Given the description of an element on the screen output the (x, y) to click on. 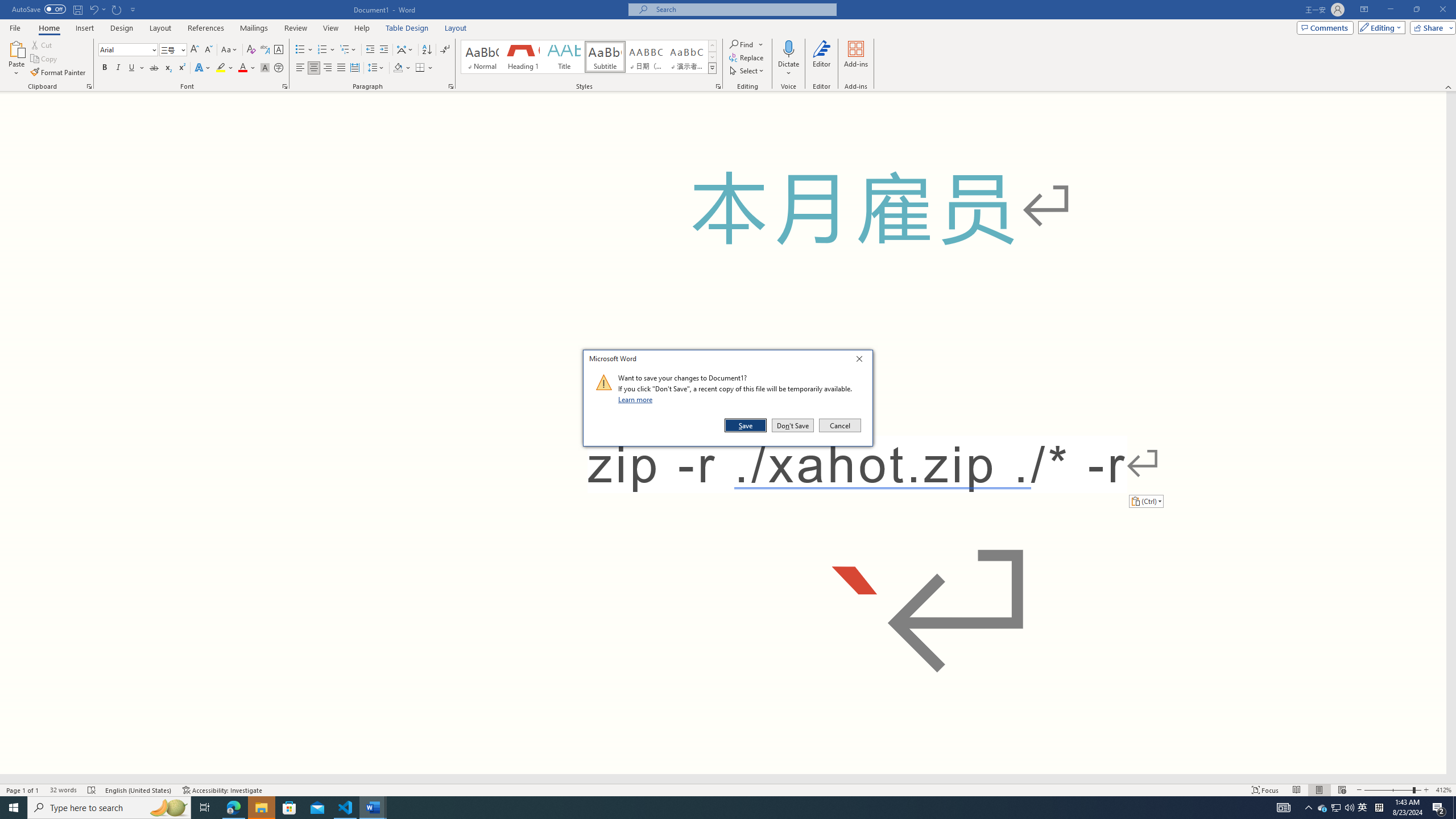
Editing (1379, 27)
Undo Paste (96, 9)
Zoom 412% (1443, 790)
